Given the description of an element on the screen output the (x, y) to click on. 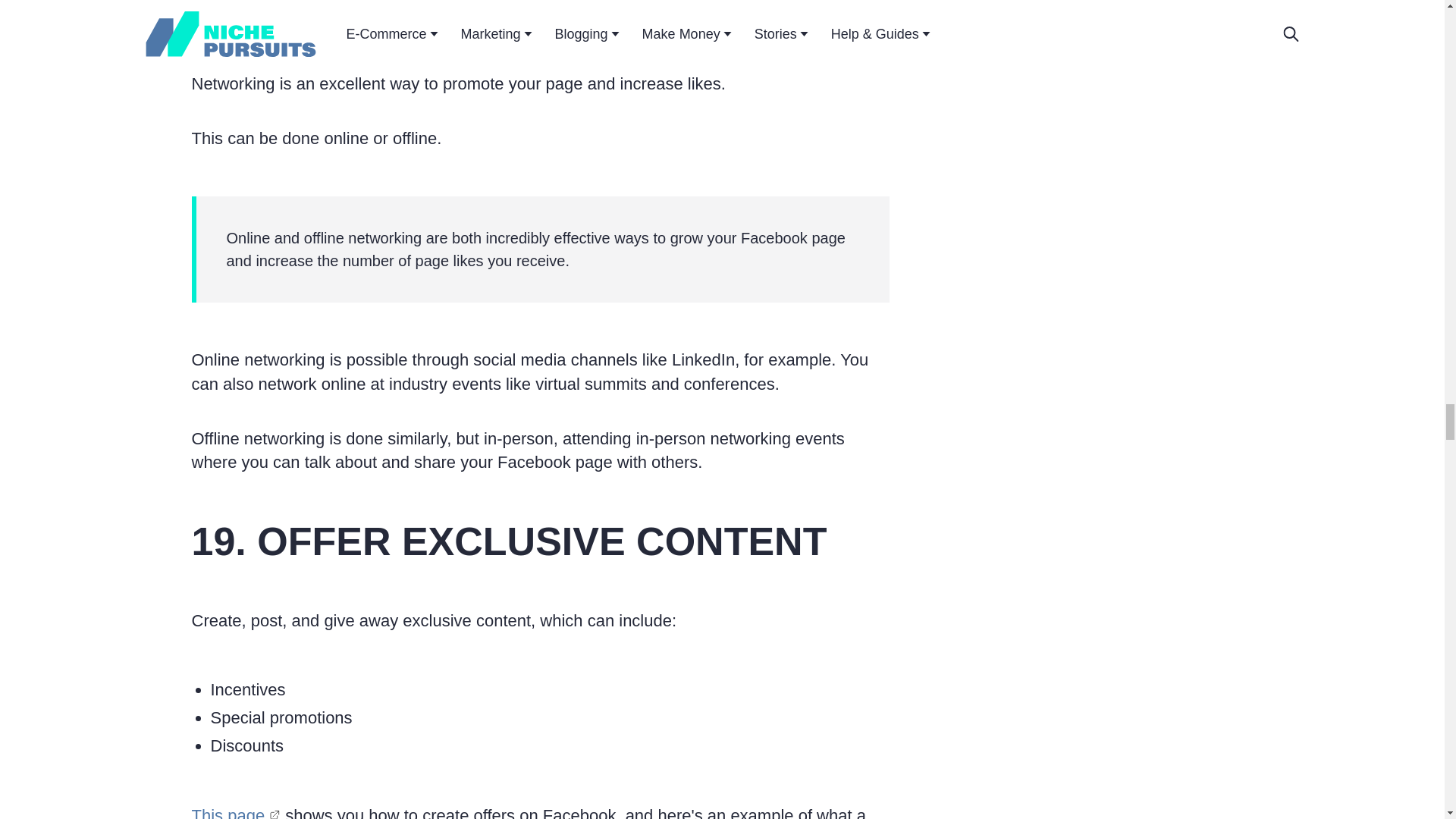
Link goes to external site. (274, 812)
